Given the description of an element on the screen output the (x, y) to click on. 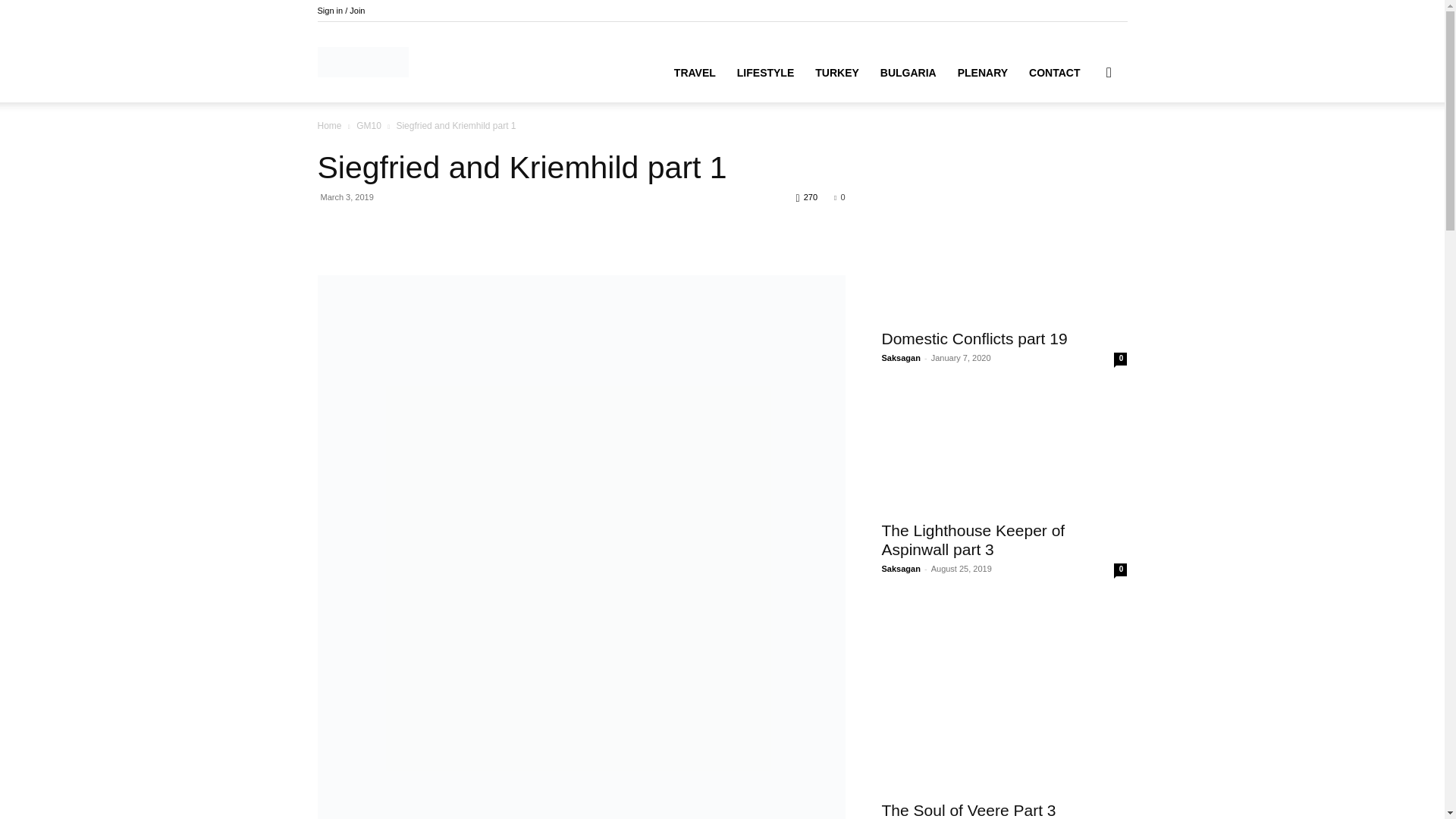
GM10 (368, 125)
LIFESTYLE (765, 72)
View all posts in GM10 (368, 125)
PLENARY (982, 72)
TURKEY (837, 72)
Search (1085, 144)
0 (839, 196)
TRAVEL (694, 72)
Tour Hints (362, 61)
